Given the description of an element on the screen output the (x, y) to click on. 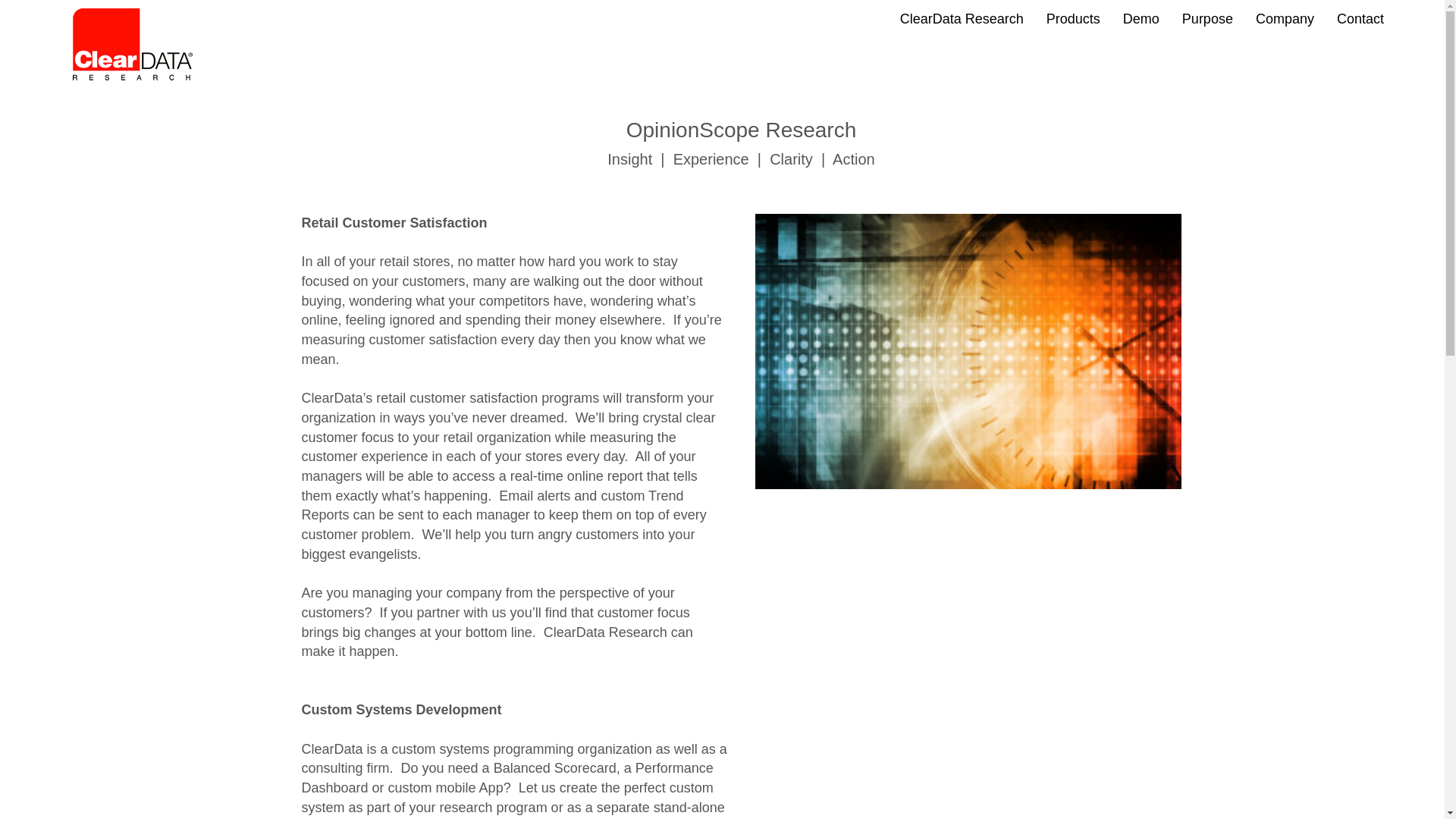
Contact (1359, 18)
ClearData Research (961, 18)
Demo (1141, 18)
Products (1073, 18)
ClearData Research (961, 18)
Company (1284, 18)
Demo (1141, 18)
Purpose (1207, 18)
Purpose (1207, 18)
Contact (1359, 18)
Products (1073, 18)
Company (1284, 18)
